Given the description of an element on the screen output the (x, y) to click on. 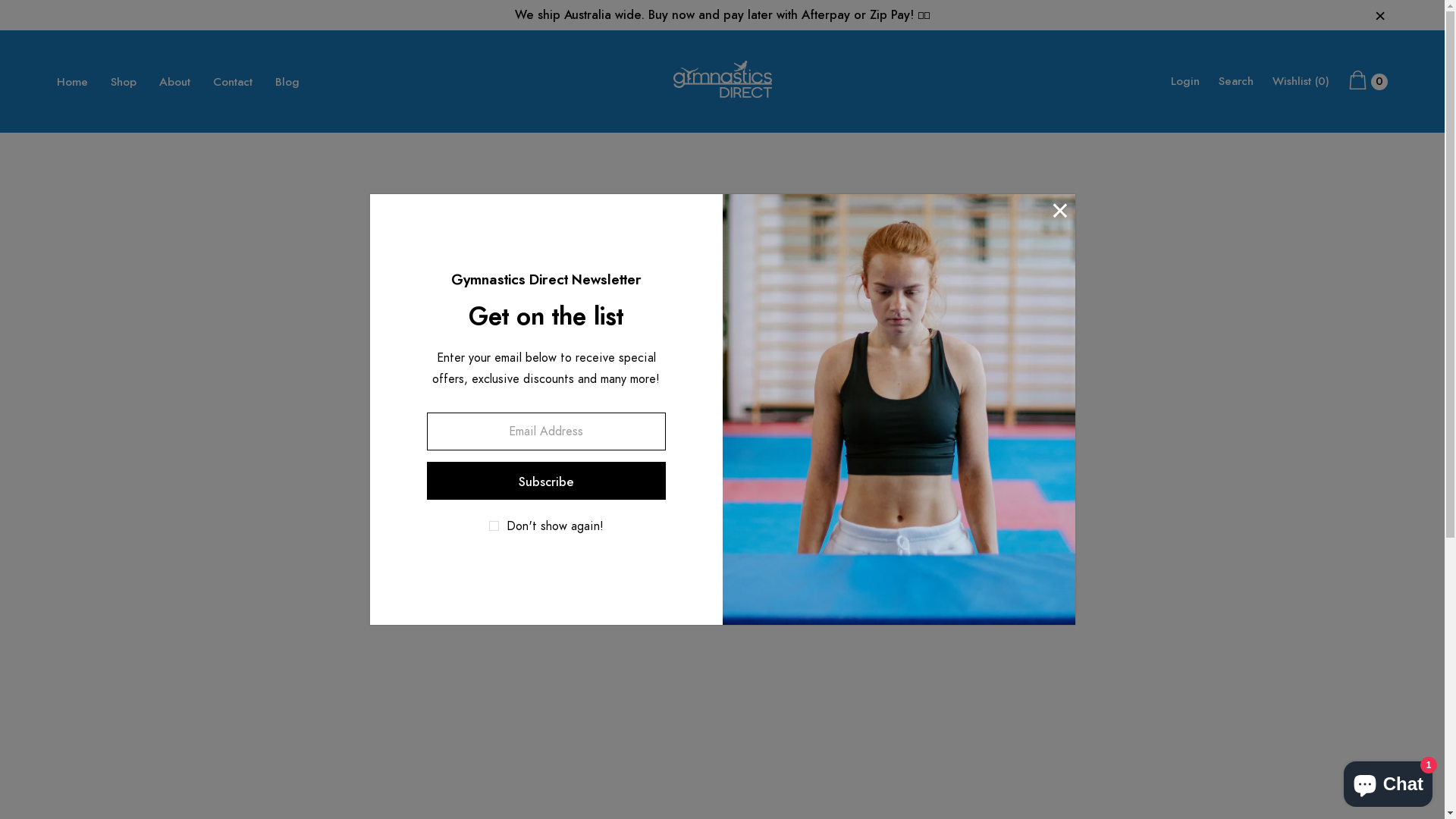
About Element type: text (174, 81)
Wishlist (0) Element type: text (1300, 81)
Search Element type: text (1235, 81)
Login Element type: text (1184, 81)
0 Element type: text (1367, 81)
Blog Element type: text (287, 81)
Subscribe Element type: text (545, 480)
Shop Element type: text (123, 81)
Home Element type: text (71, 81)
Shopify online store chat Element type: hover (1388, 780)
Contact Element type: text (232, 81)
Continue Shopping Element type: text (722, 491)
